Given the description of an element on the screen output the (x, y) to click on. 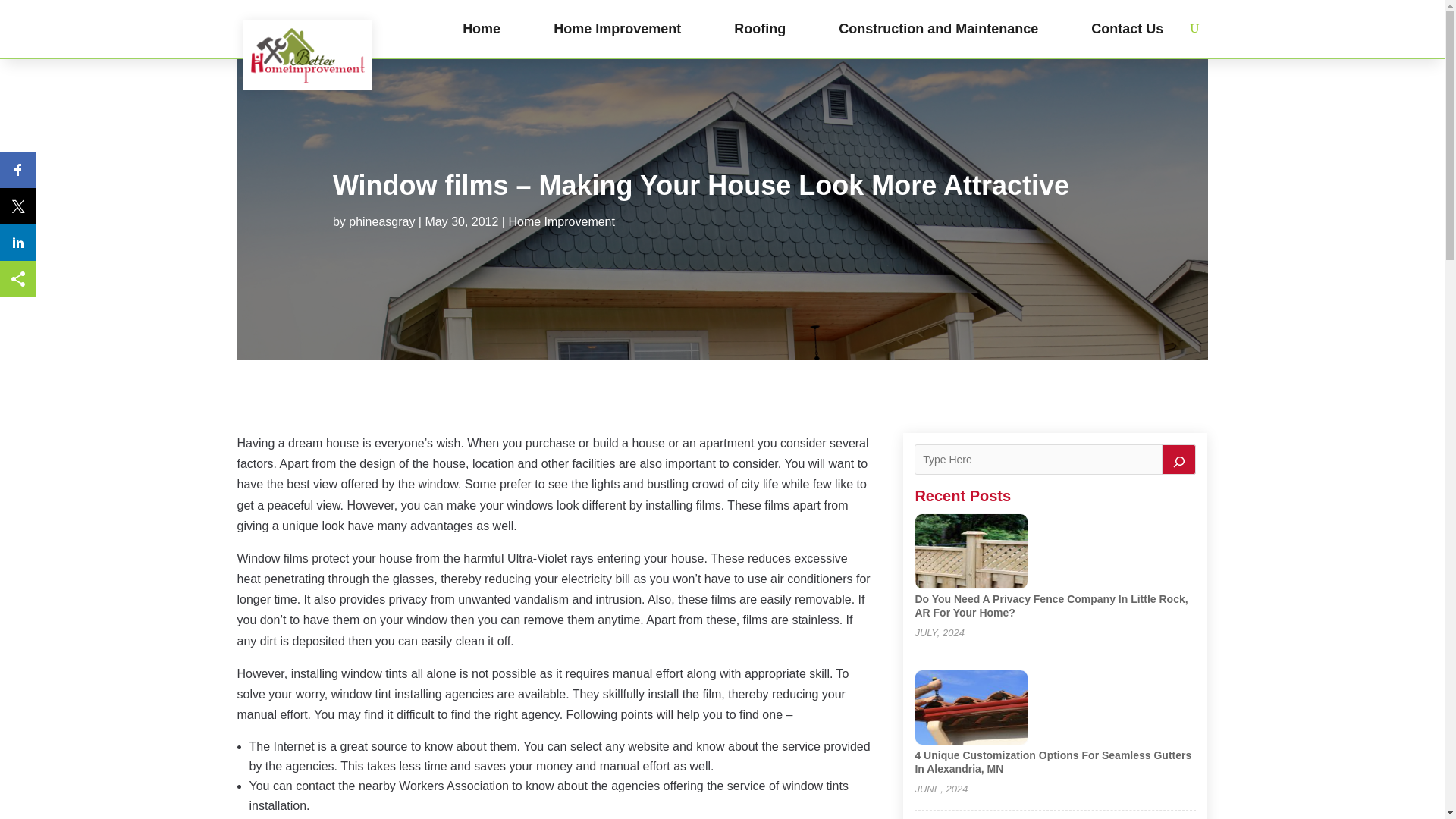
phineasgray (381, 221)
Roofing (759, 28)
Contact Us (1126, 28)
Construction and Maintenance (938, 28)
Home Improvement (617, 28)
Home Improvement (561, 221)
Posts by phineasgray (381, 221)
